Given the description of an element on the screen output the (x, y) to click on. 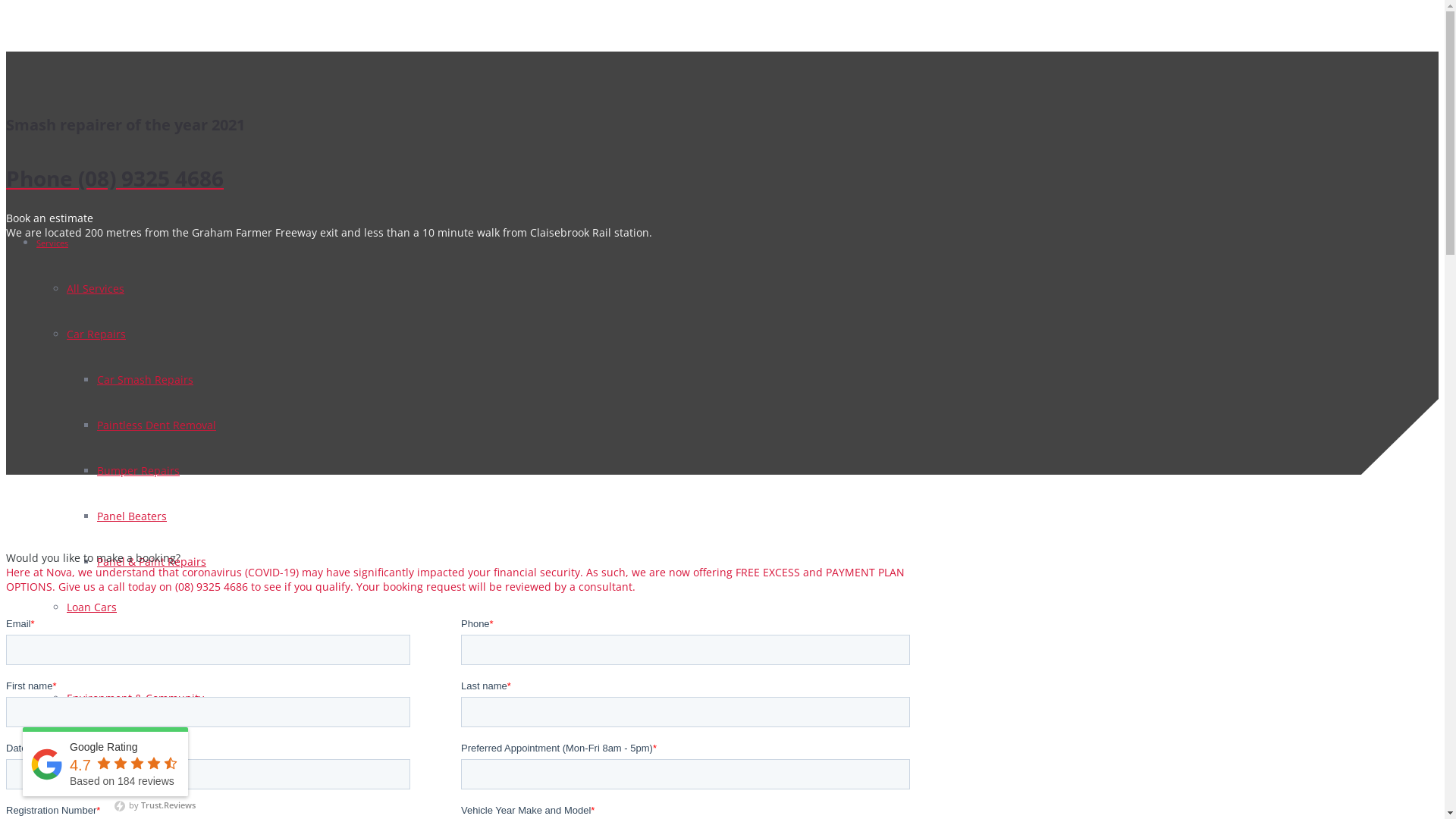
Pick up & Delivery Element type: text (111, 652)
Paintless Dent Removal Element type: text (156, 424)
Panel & Paint Repairs Element type: text (151, 561)
Car Repairs Element type: text (95, 333)
Services Element type: text (52, 242)
Environment & Community Element type: text (134, 697)
Car Smash Repairs Element type: text (145, 379)
Bumper Repairs Element type: text (138, 470)
by Trust.Reviews Element type: text (154, 805)
All Services Element type: text (95, 288)
Phone (08) 9325 4686 Element type: text (461, 177)
NOVA VIP Element type: text (55, 788)
Not-at-Fault Element type: text (60, 743)
Loan Cars Element type: text (91, 606)
Panel Beaters Element type: text (131, 515)
